Given the description of an element on the screen output the (x, y) to click on. 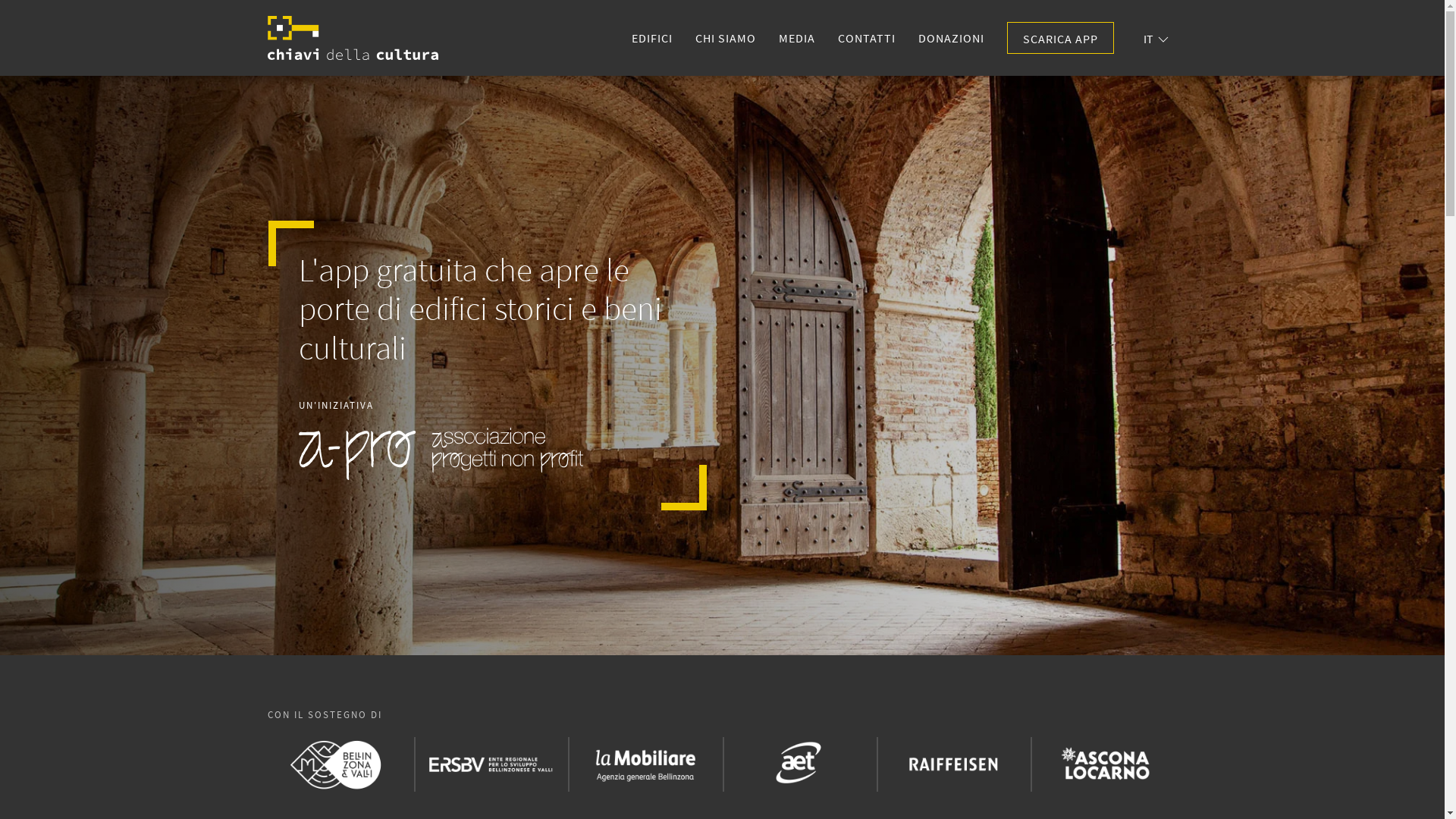
MEDIA Element type: text (796, 37)
EDIFICI Element type: text (652, 37)
CONTATTI Element type: text (866, 37)
DONAZIONI Element type: text (950, 37)
IT Element type: text (1155, 38)
SCARICA APP Element type: text (1060, 37)
CHI SIAMO Element type: text (725, 37)
